Given the description of an element on the screen output the (x, y) to click on. 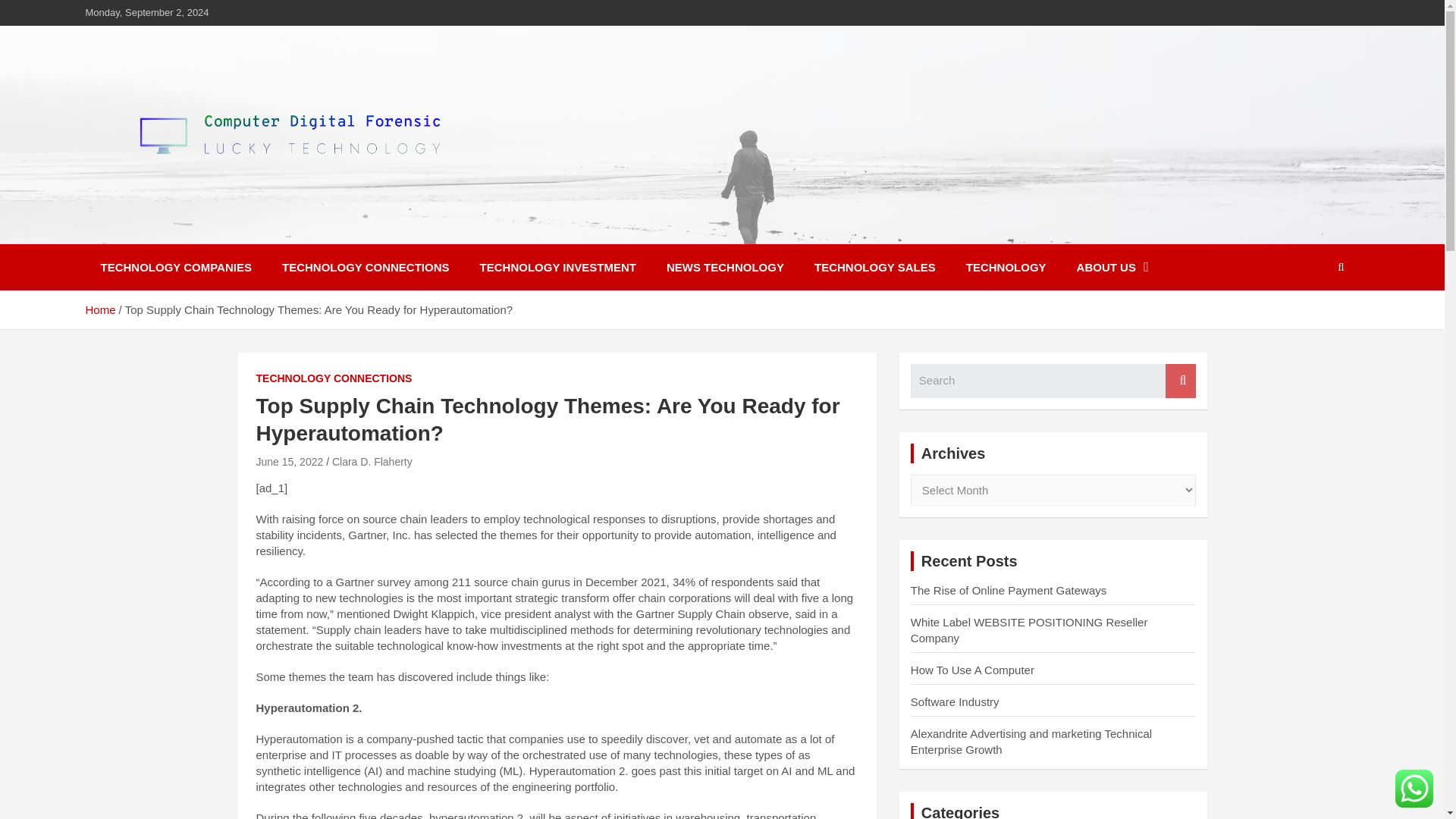
TECHNOLOGY COMPANIES (175, 267)
TECHNOLOGY CONNECTIONS (365, 267)
Computer Digital Forensic (274, 233)
TECHNOLOGY INVESTMENT (557, 267)
TECHNOLOGY CONNECTIONS (334, 378)
TECHNOLOGY SALES (874, 267)
Clara D. Flaherty (371, 461)
June 15, 2022 (289, 461)
TECHNOLOGY (1005, 267)
Home (99, 309)
